Given the description of an element on the screen output the (x, y) to click on. 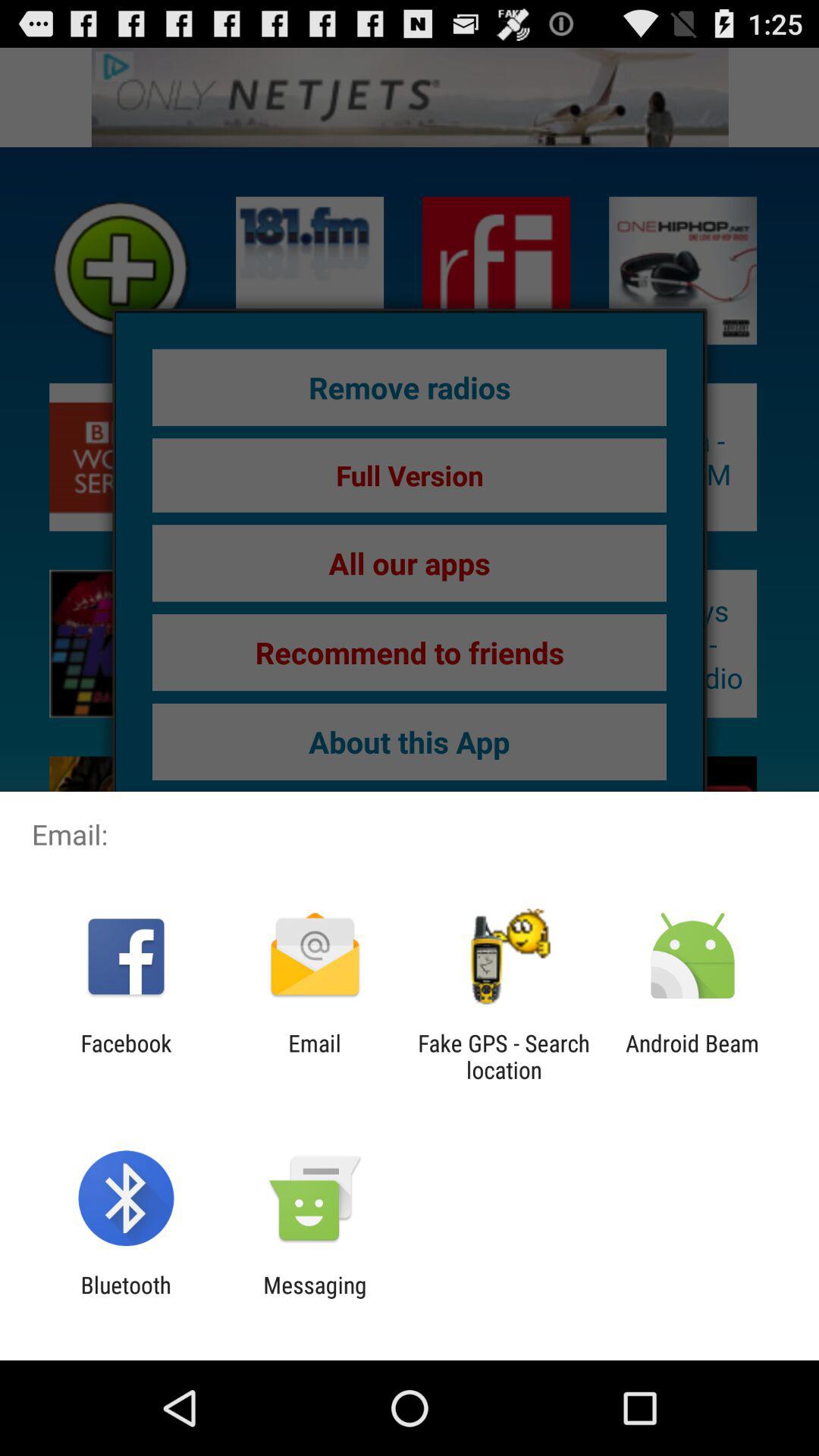
press the item next to the email app (503, 1056)
